Given the description of an element on the screen output the (x, y) to click on. 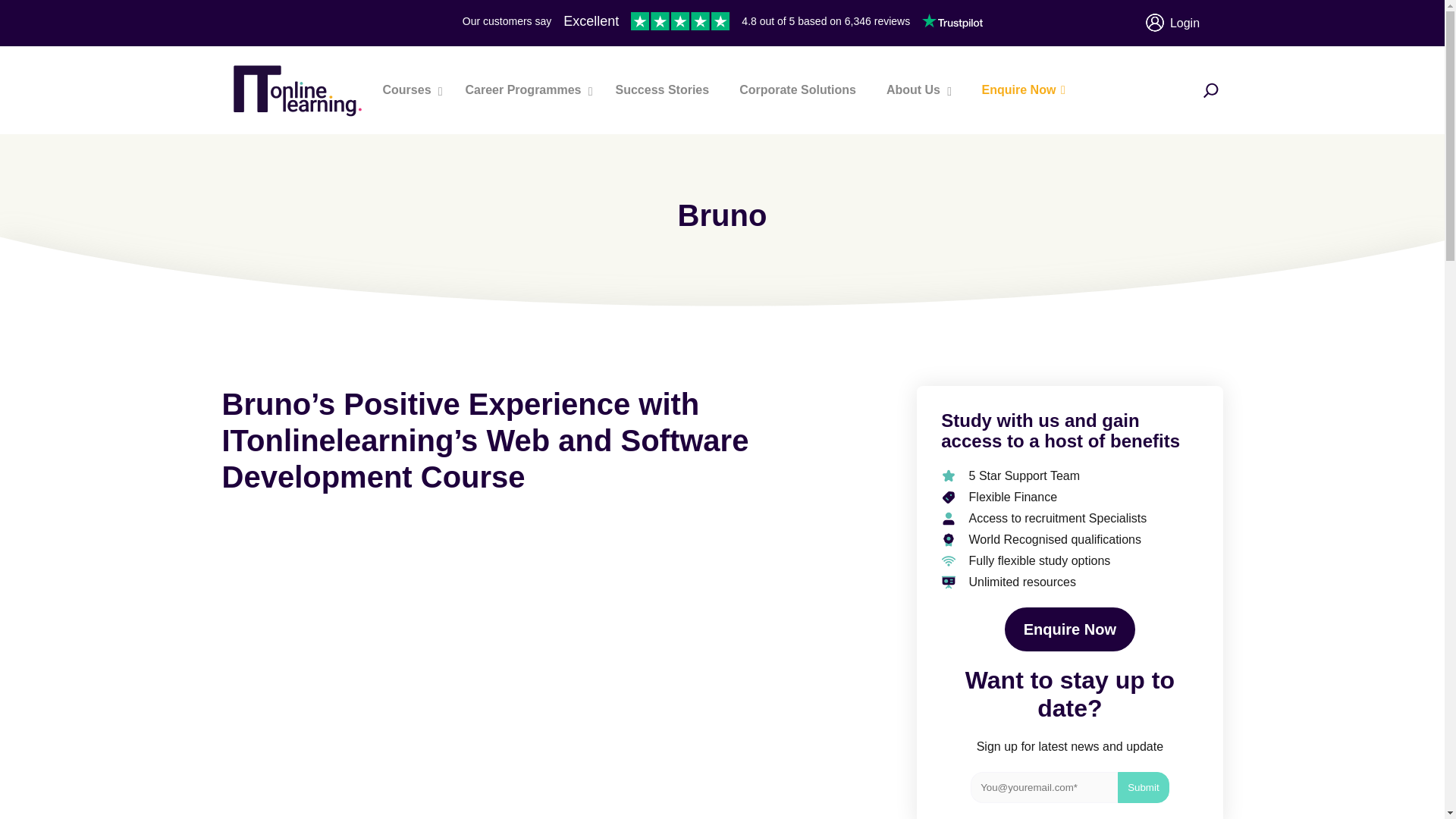
Login (1184, 22)
Customer reviews powered by Trustpilot (721, 22)
Submit (1143, 787)
